Given the description of an element on the screen output the (x, y) to click on. 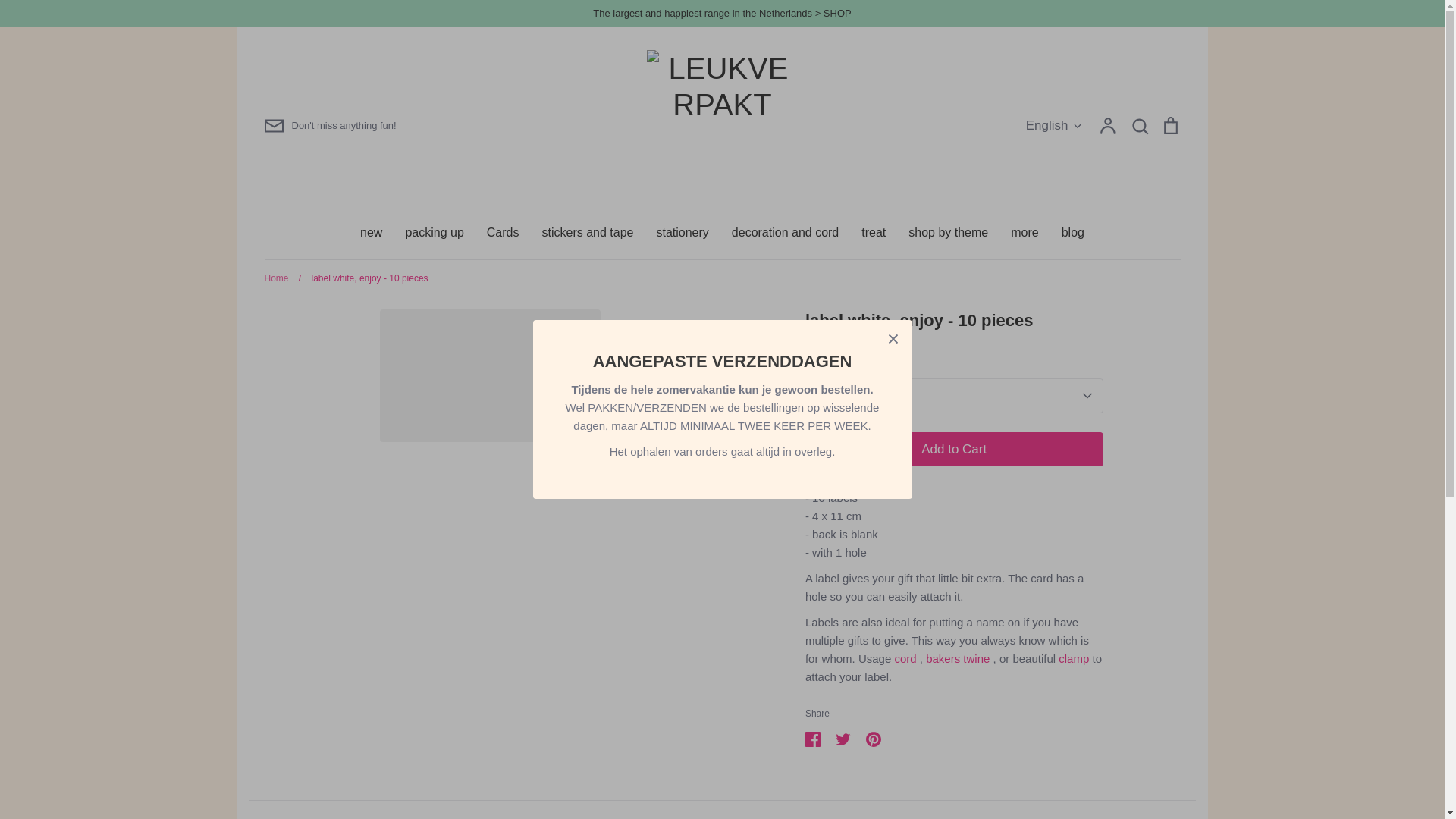
Don't miss anything fun! (329, 125)
Search (1139, 125)
English (1054, 125)
Cart (1169, 125)
packing up (433, 232)
Account (1107, 125)
new (370, 232)
